Given the description of an element on the screen output the (x, y) to click on. 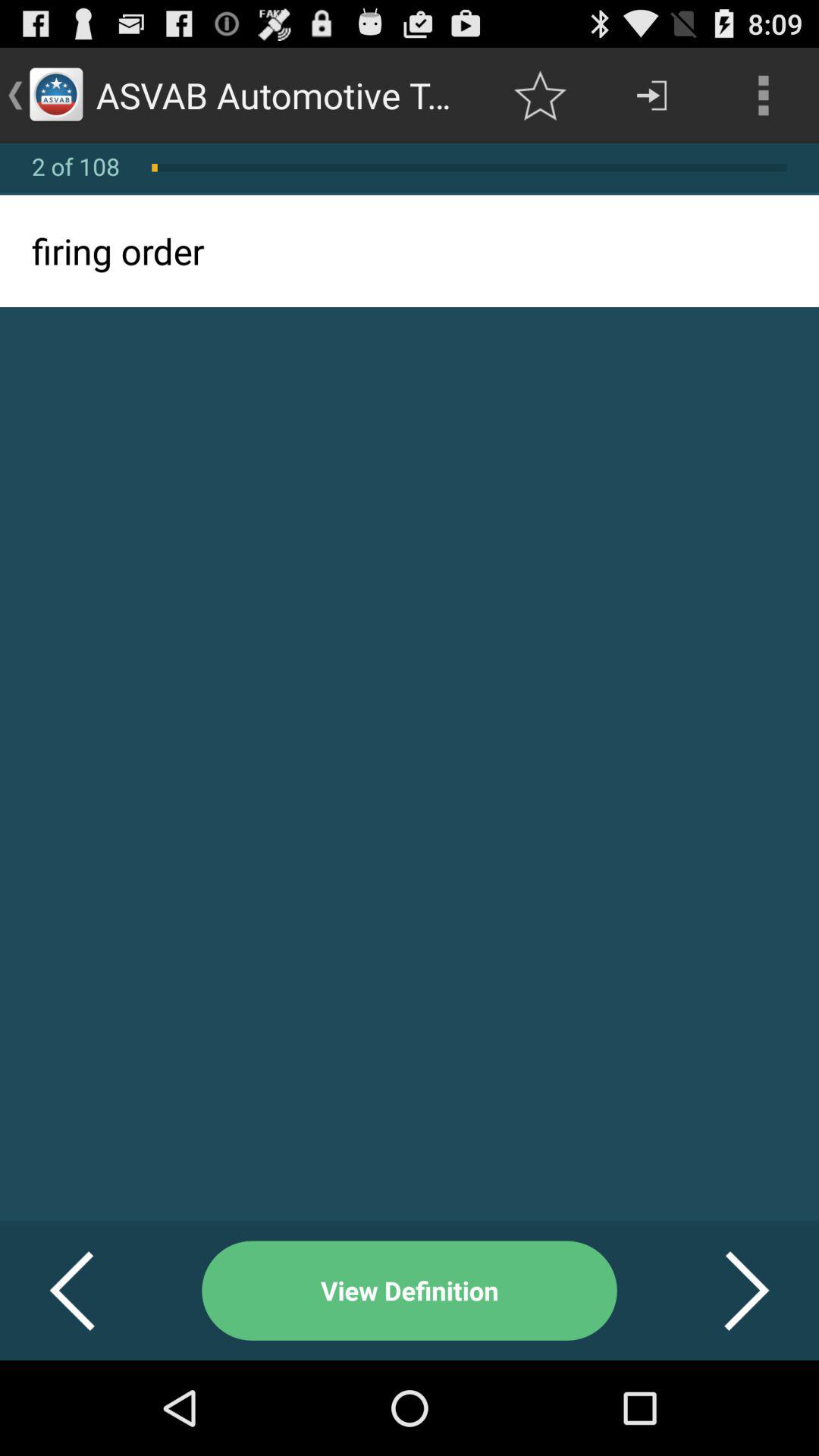
scroll to view definition item (409, 1290)
